Given the description of an element on the screen output the (x, y) to click on. 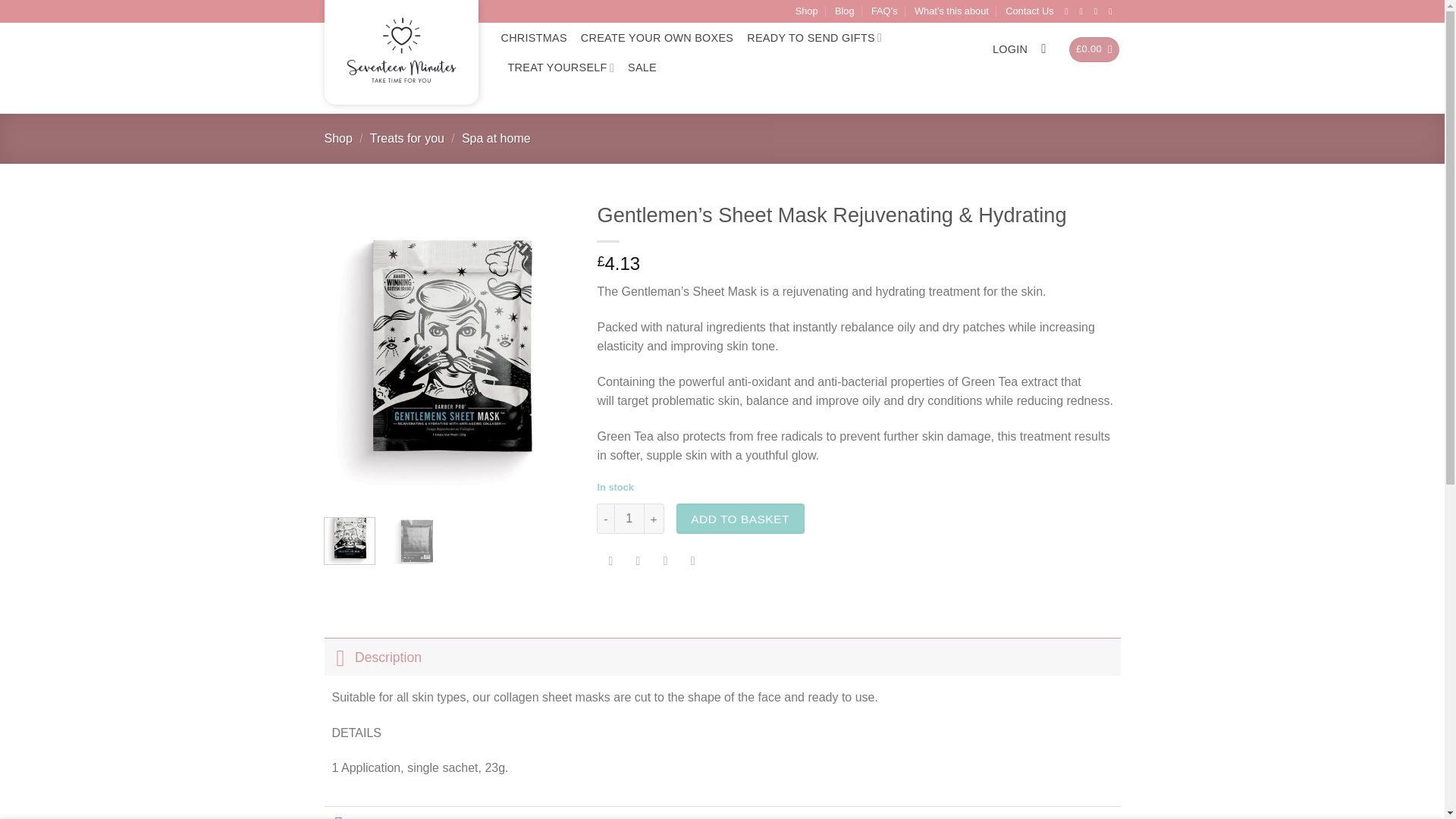
Shop (338, 137)
Email to a Friend (665, 561)
Spa at home (496, 137)
CHRISTMAS (533, 37)
Shop (806, 11)
Share on Facebook (610, 561)
Basket (1093, 49)
Login (1009, 49)
Contact Us (1029, 11)
1 (629, 518)
